Given the description of an element on the screen output the (x, y) to click on. 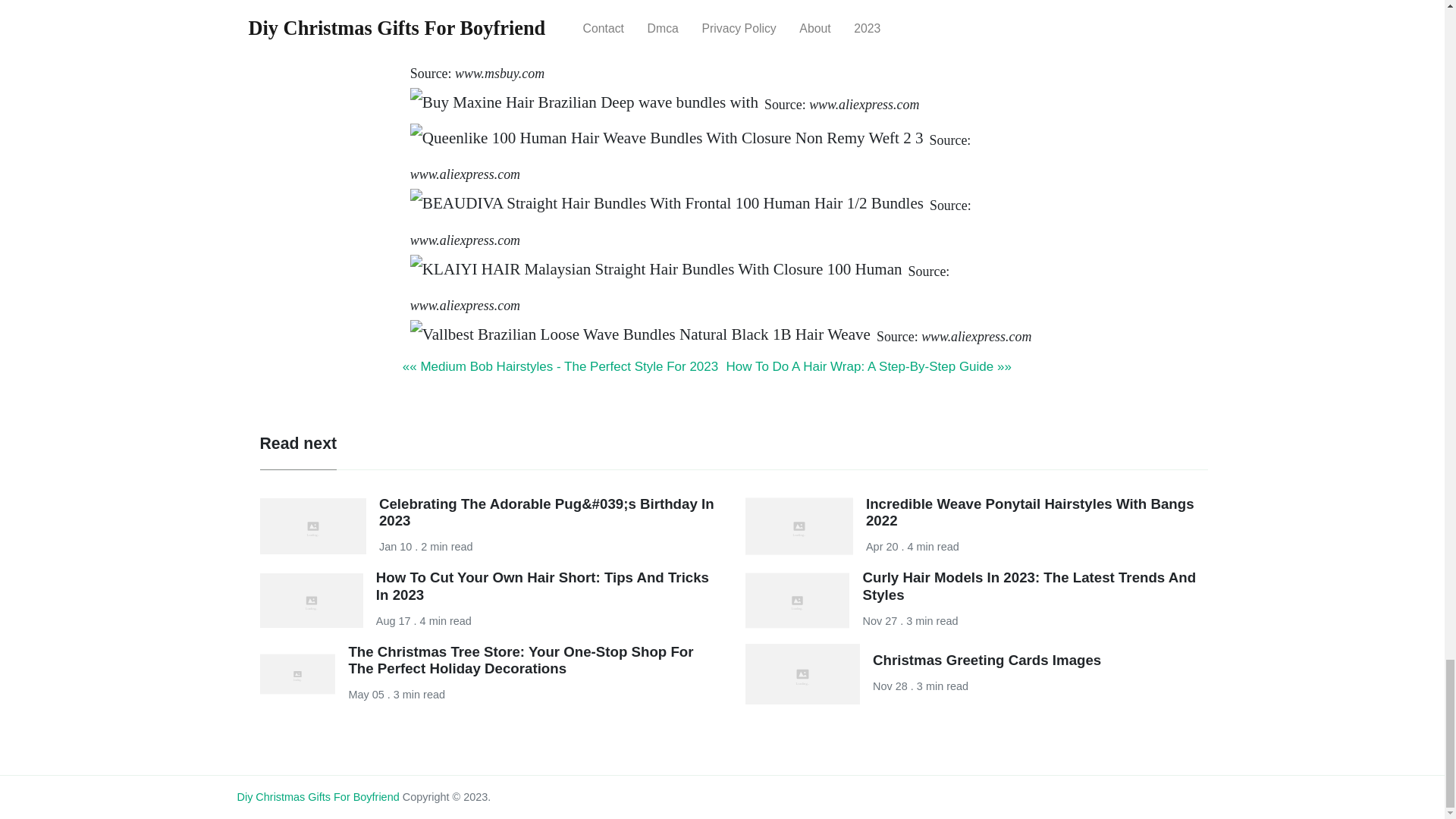
Christmas Greeting Cards Images (986, 659)
How To Cut Your Own Hair Short: Tips And Tricks In 2023 (542, 585)
Curly Hair Models In 2023: The Latest Trends And Styles (1028, 585)
Diy Christmas Gifts For Boyfriend (316, 797)
Incredible Weave Ponytail Hairstyles With Bangs 2022 (1029, 512)
